Given the description of an element on the screen output the (x, y) to click on. 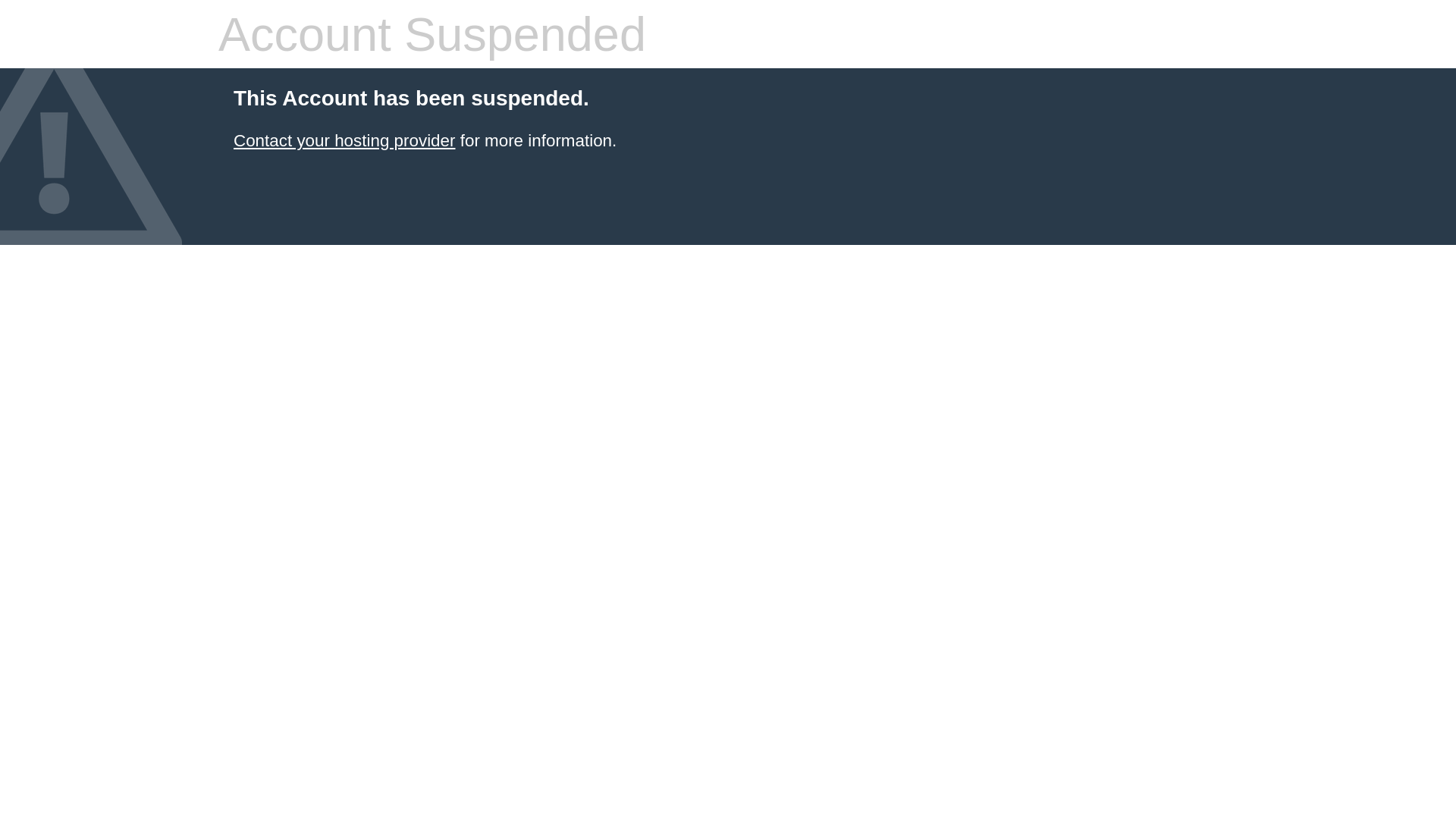
Contact your hosting provider Element type: text (344, 140)
